Given the description of an element on the screen output the (x, y) to click on. 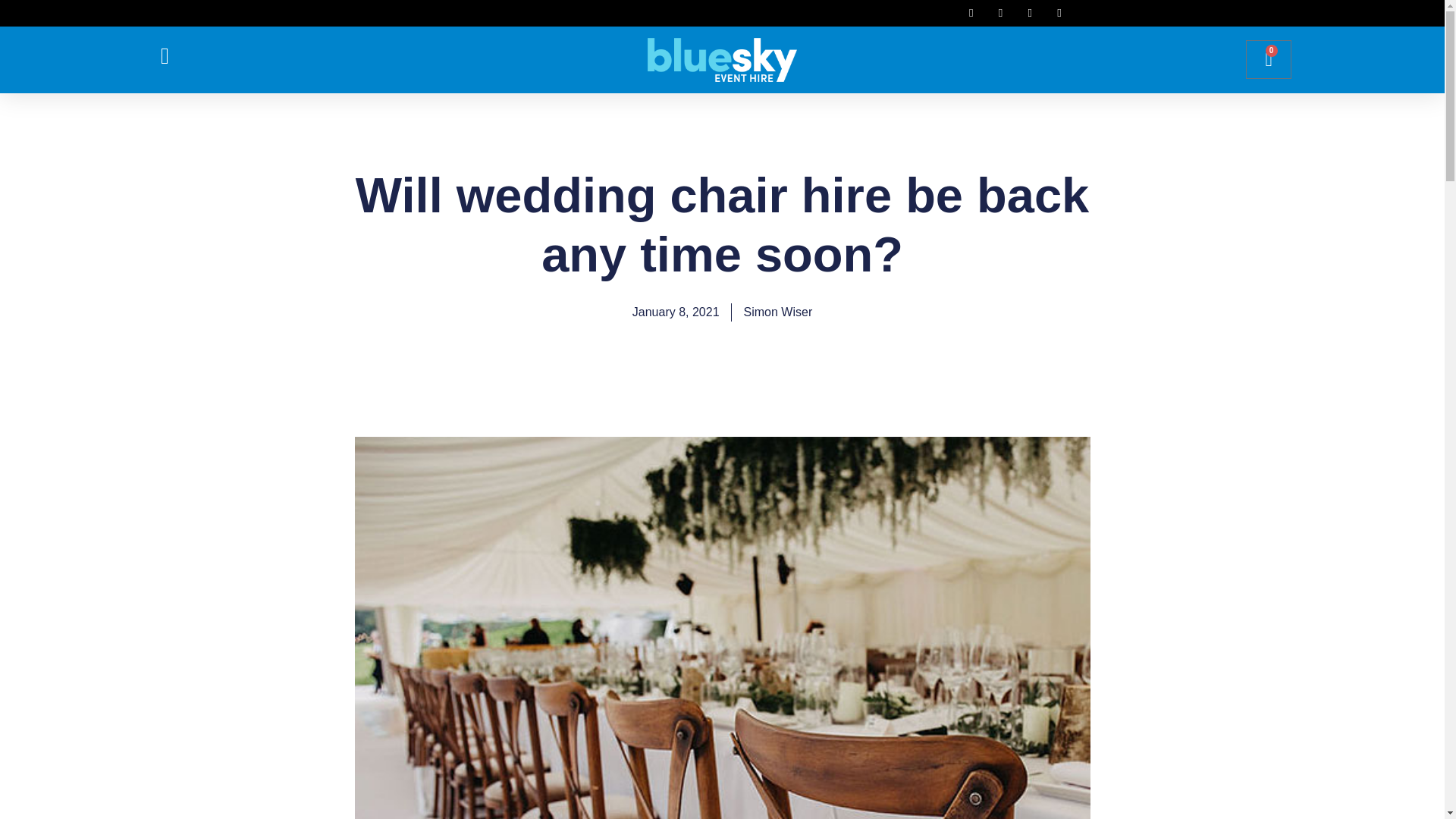
January 8, 2021 (675, 312)
Simon Wiser (1268, 59)
